Given the description of an element on the screen output the (x, y) to click on. 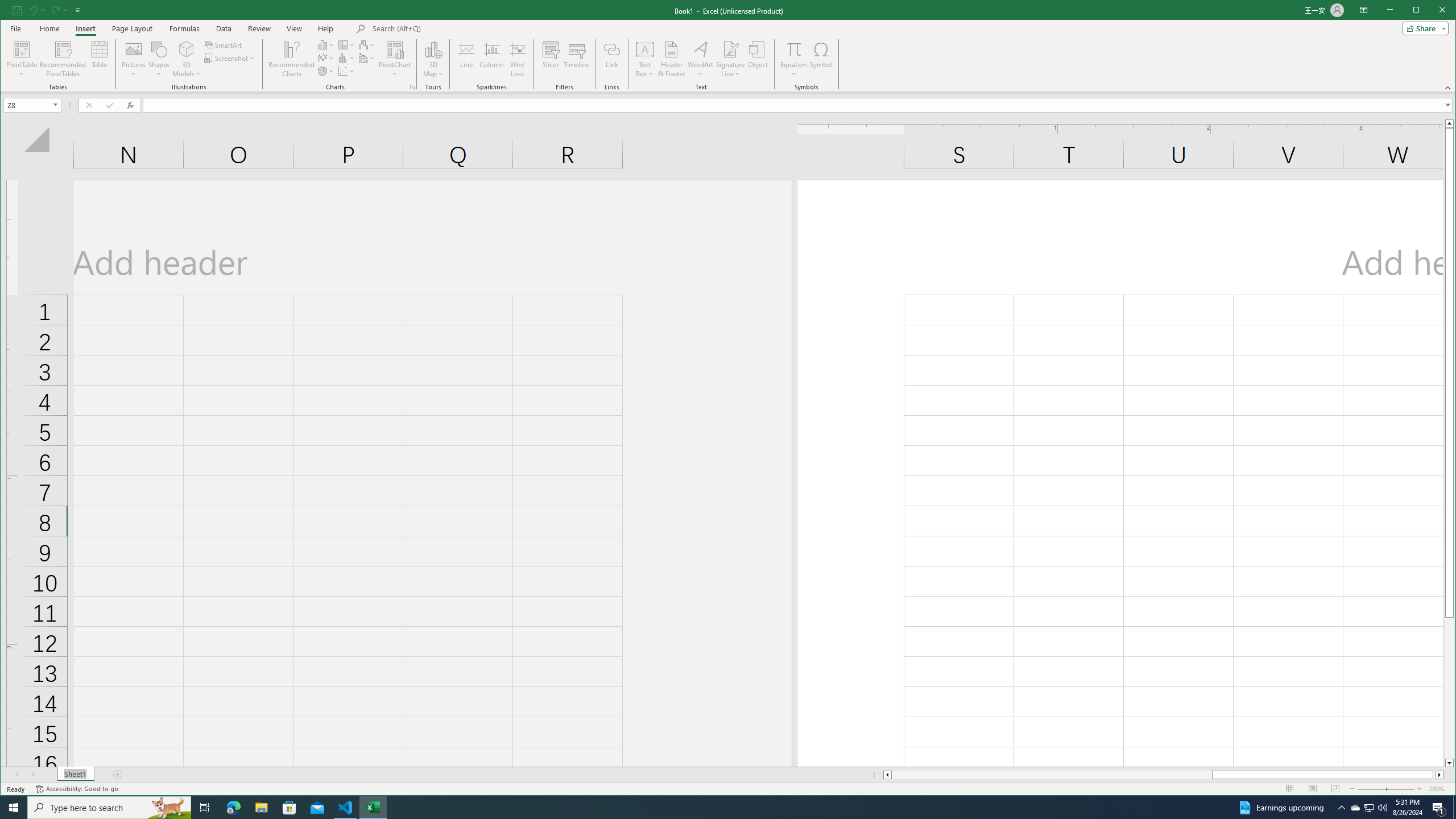
Text Box (644, 59)
Earnings upcoming (1355, 807)
Symbol... (1280, 807)
Notification Chevron (821, 59)
Task View (1341, 807)
Q2790: 100% (204, 807)
